Given the description of an element on the screen output the (x, y) to click on. 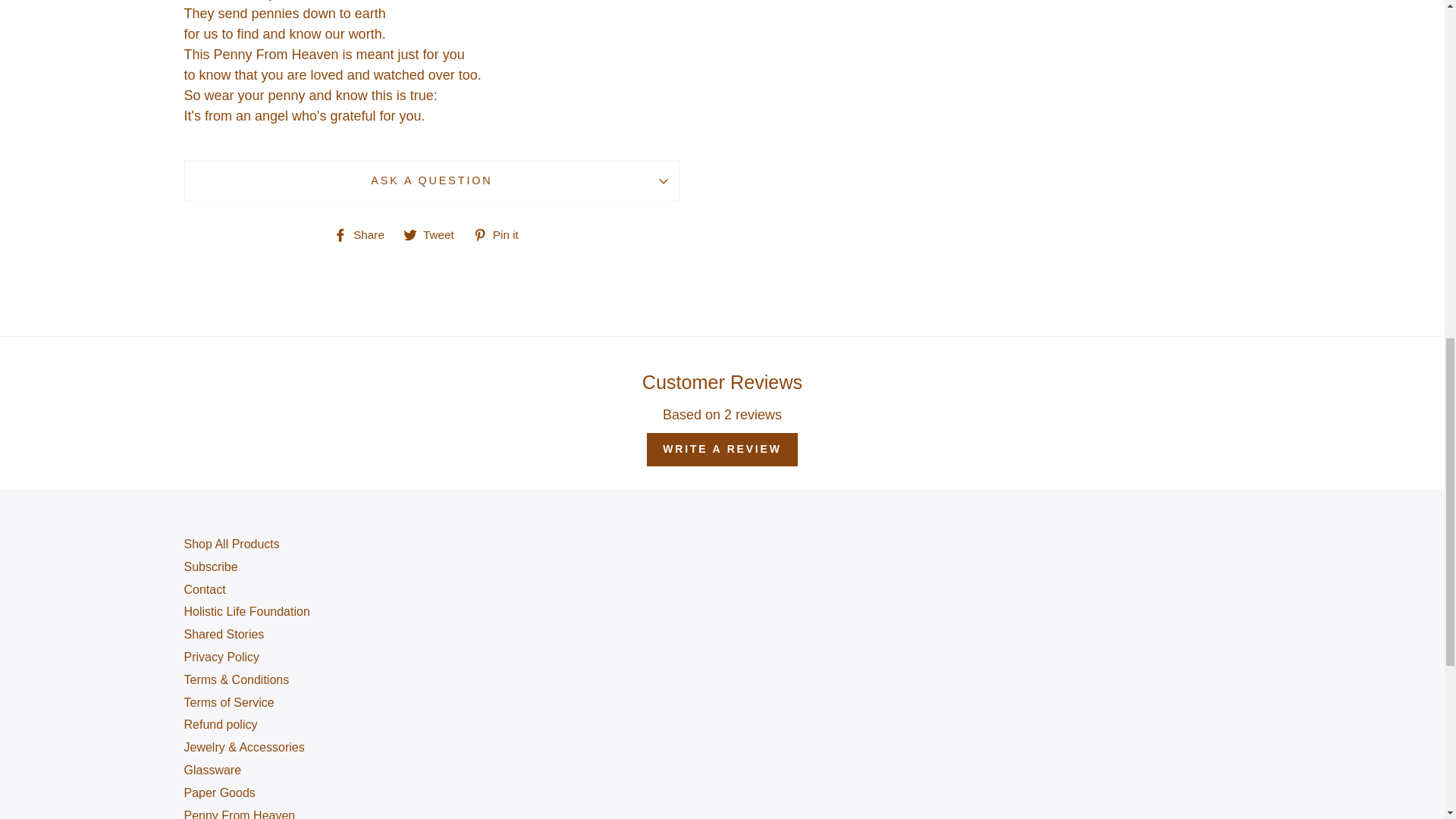
Tweet on Twitter (434, 233)
Pin on Pinterest (501, 233)
Page 1 (431, 63)
Share on Facebook (364, 233)
